Given the description of an element on the screen output the (x, y) to click on. 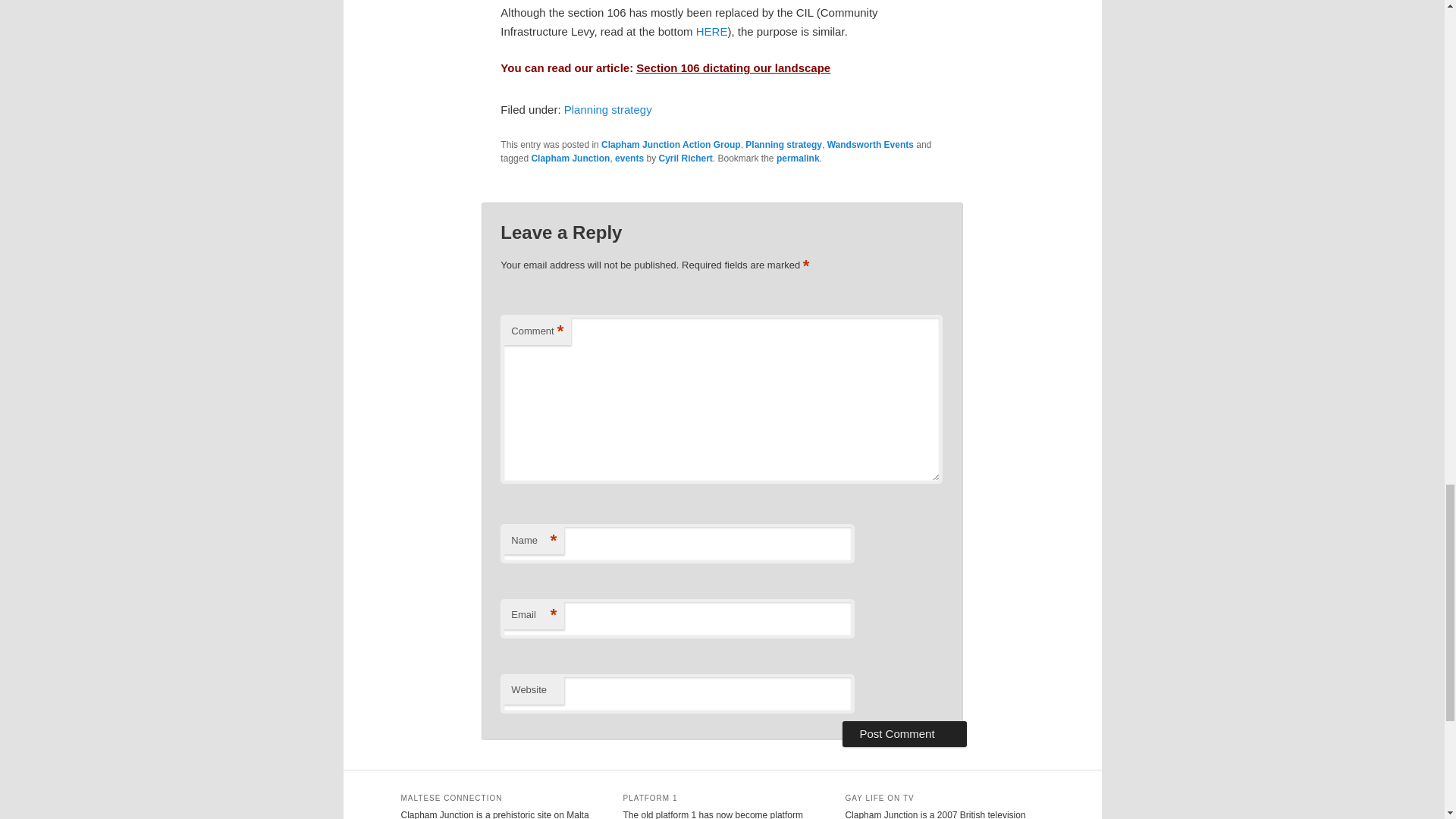
HERE (711, 31)
Planning strategy (608, 109)
Clapham Junction (570, 158)
Wandsworth Events (870, 144)
permalink (797, 158)
Post Comment (904, 733)
events (628, 158)
Cyril Richert (684, 158)
Planning strategy (783, 144)
Clapham Junction Action Group (671, 144)
